Given the description of an element on the screen output the (x, y) to click on. 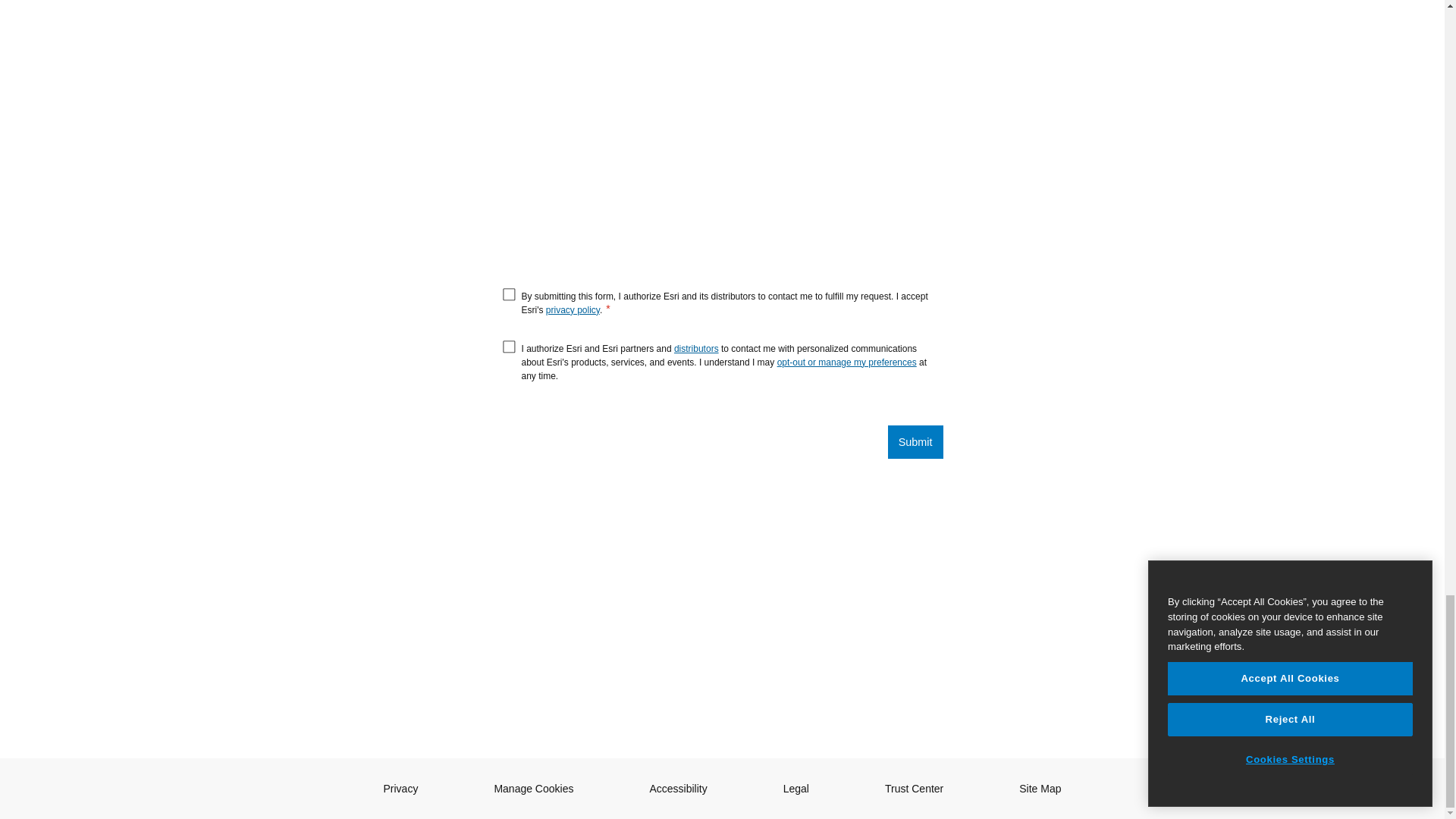
Accessibility (677, 788)
Trust Center (914, 788)
Legal (796, 788)
Submit (915, 441)
Site Map (1040, 788)
Privacy (399, 788)
Manage Cookies (533, 788)
distributors (696, 347)
opt-out or manage my preferences (847, 361)
privacy policy (572, 309)
